Given the description of an element on the screen output the (x, y) to click on. 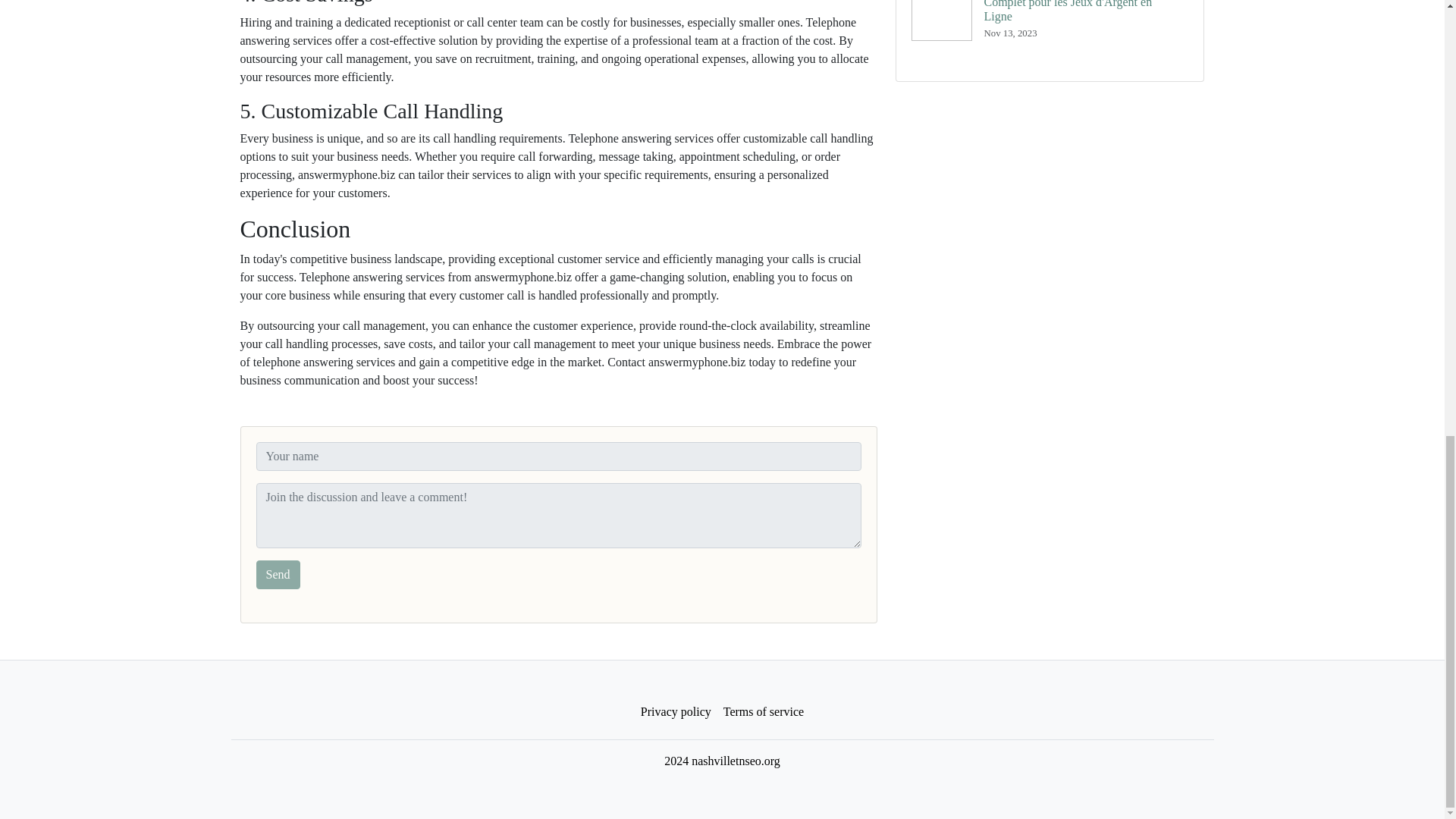
Send (277, 574)
Terms of service (763, 711)
Privacy policy (675, 711)
Send (277, 574)
